Given the description of an element on the screen output the (x, y) to click on. 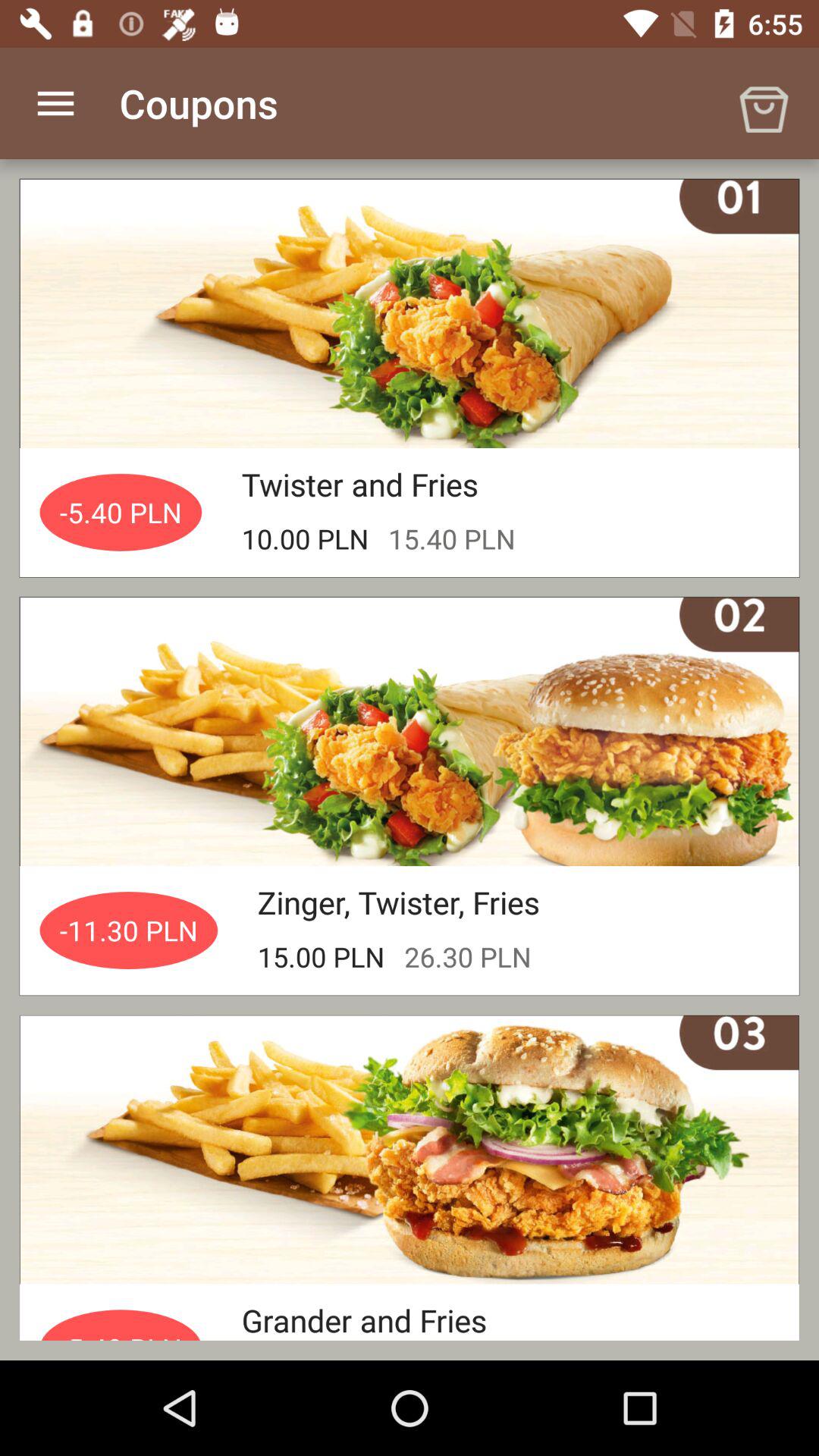
launch icon to the left of the coupons (55, 103)
